Given the description of an element on the screen output the (x, y) to click on. 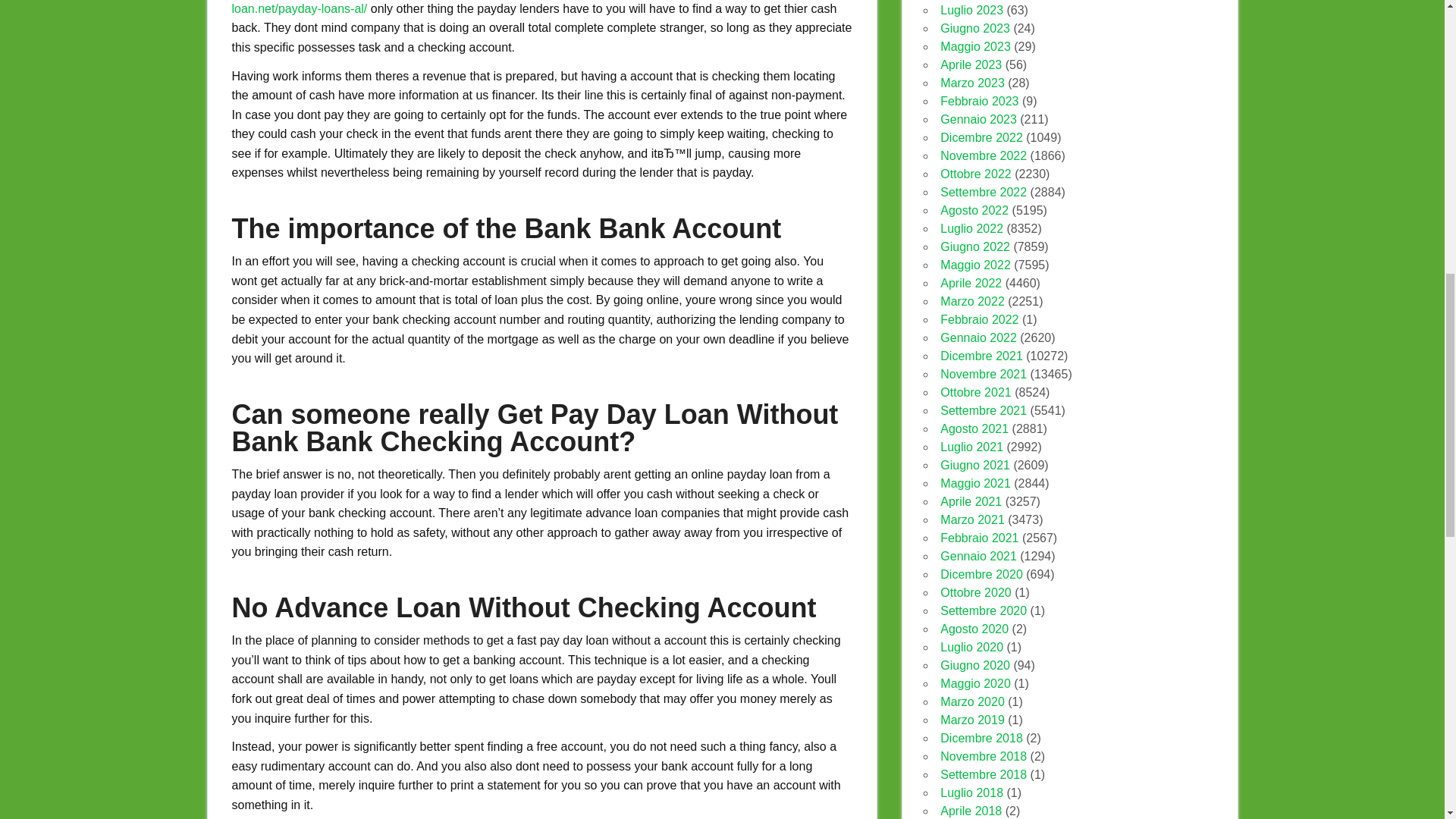
Luglio 2022 (971, 228)
Maggio 2023 (975, 46)
Febbraio 2023 (978, 101)
Giugno 2022 (975, 246)
Gennaio 2023 (978, 119)
Novembre 2022 (983, 155)
Dicembre 2022 (981, 137)
Marzo 2023 (972, 82)
Aprile 2023 (970, 64)
Maggio 2022 (975, 264)
